Given the description of an element on the screen output the (x, y) to click on. 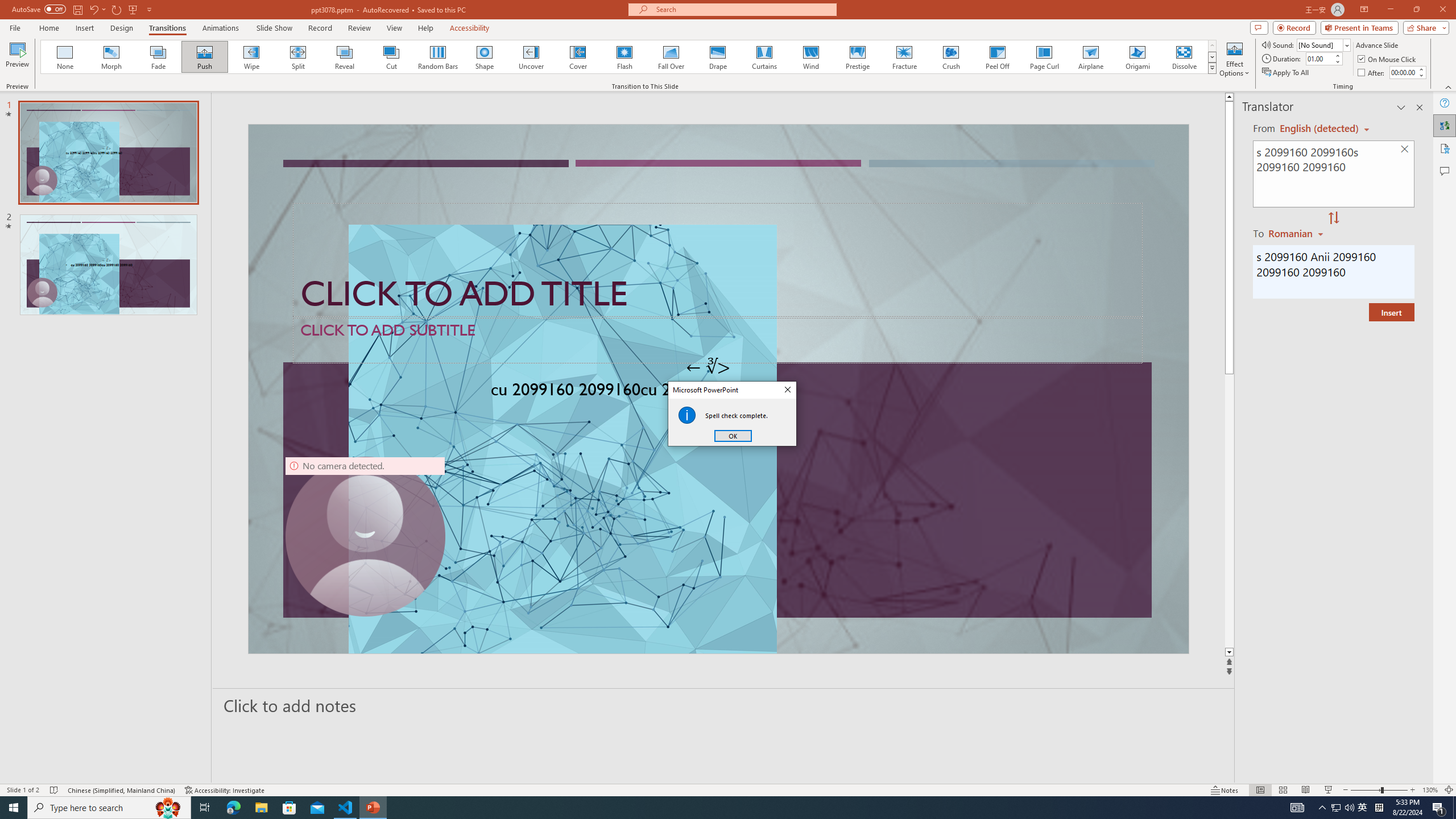
On Mouse Click (1387, 58)
